Given the description of an element on the screen output the (x, y) to click on. 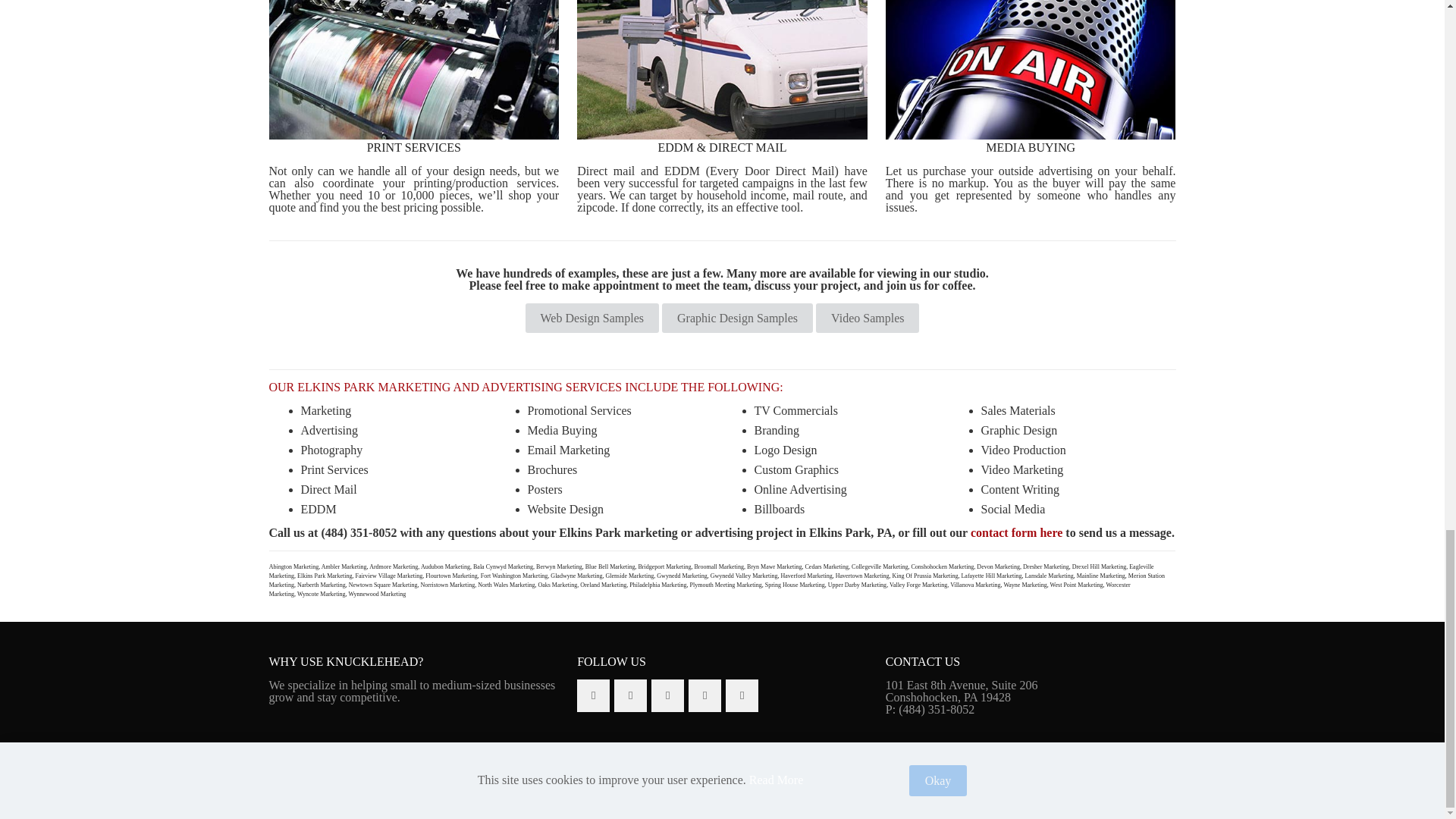
Elkins Park Marketing (324, 575)
Eagleville Marketing (711, 571)
Broomall Marketing (719, 566)
Conshohocken Marketing (942, 566)
Graphic Design Samples (737, 317)
Dresher Marketing (1045, 566)
Web Design Samples (592, 317)
Collegeville Marketing (879, 566)
Video Samples (866, 317)
Facebook (1110, 779)
Audubon Marketing (445, 566)
LinkedIn (1142, 779)
Devon Marketing (998, 566)
Blue Bell Marketing (609, 566)
Ardmore Marketing (393, 566)
